Given the description of an element on the screen output the (x, y) to click on. 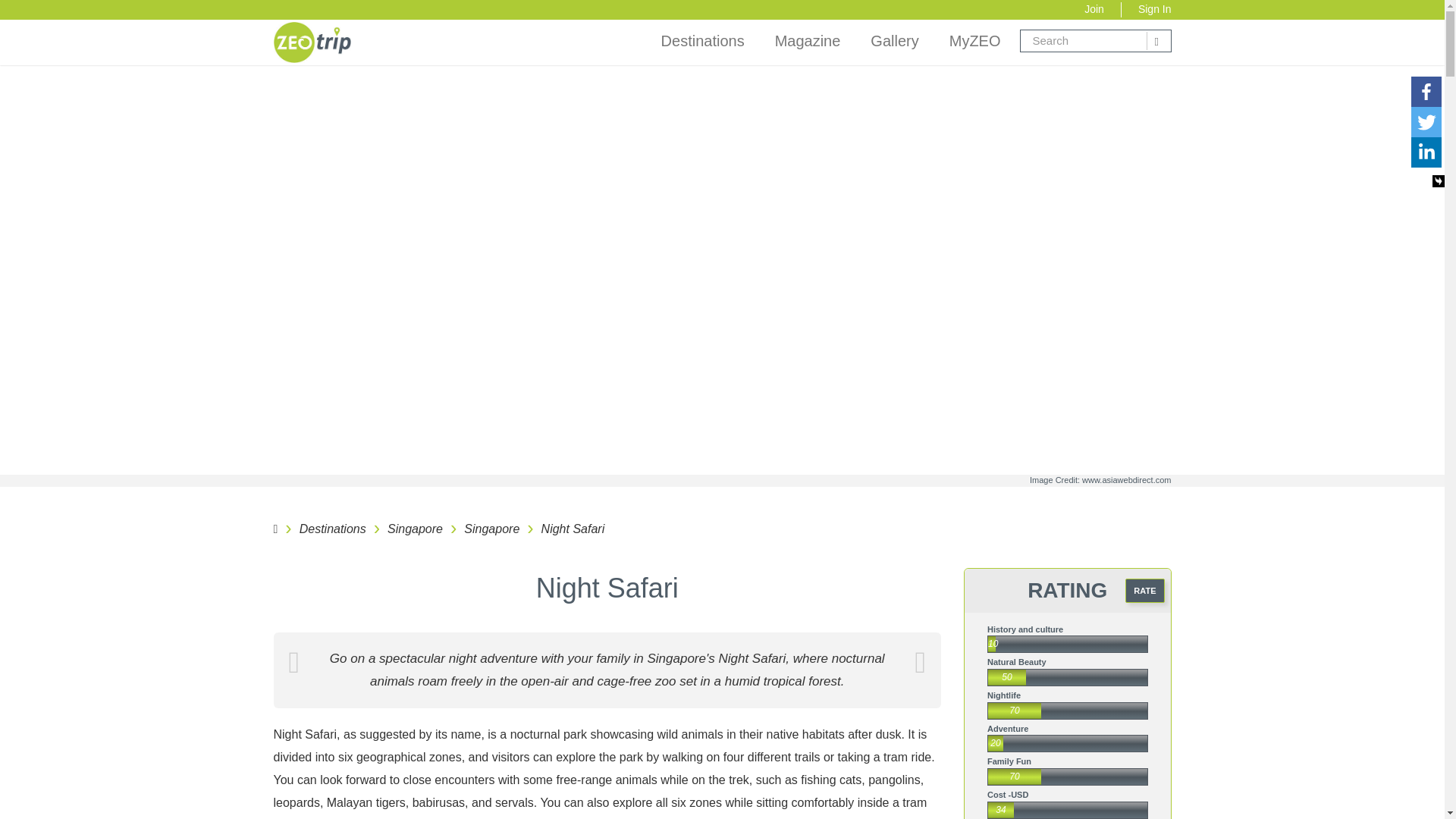
Join (1093, 9)
Destinations (702, 40)
Twitter (1425, 122)
Linkedin (1425, 152)
Sign In (1155, 9)
Facebook (1425, 91)
